Given the description of an element on the screen output the (x, y) to click on. 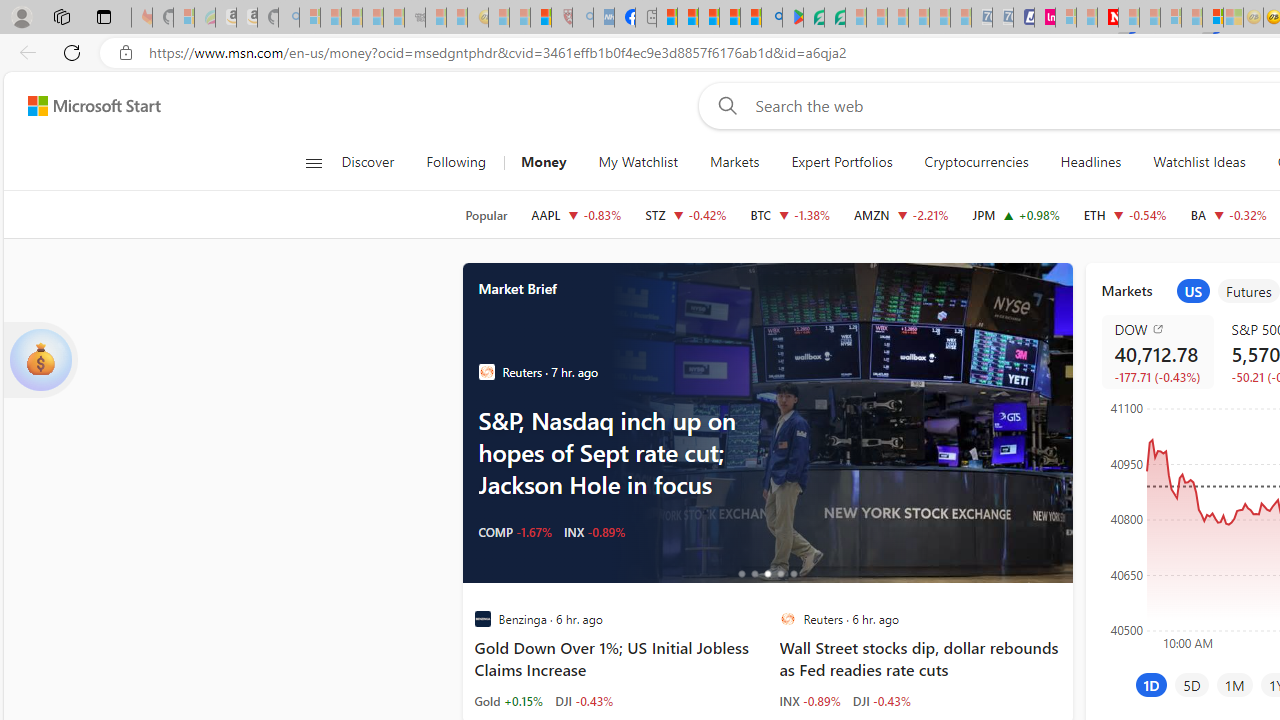
ETH Ethereum decrease 2,623.19 -14.14 -0.54% (1124, 214)
AMZN AMAZON.COM, INC. decrease 176.13 -3.98 -2.21% (901, 214)
Watchlist Ideas (1199, 162)
The Weather Channel - MSN - Sleeping (351, 17)
Class: button-glyph (313, 162)
Cryptocurrencies (975, 162)
Cryptocurrencies (976, 162)
My Watchlist (637, 162)
Reuters (787, 619)
